Given the description of an element on the screen output the (x, y) to click on. 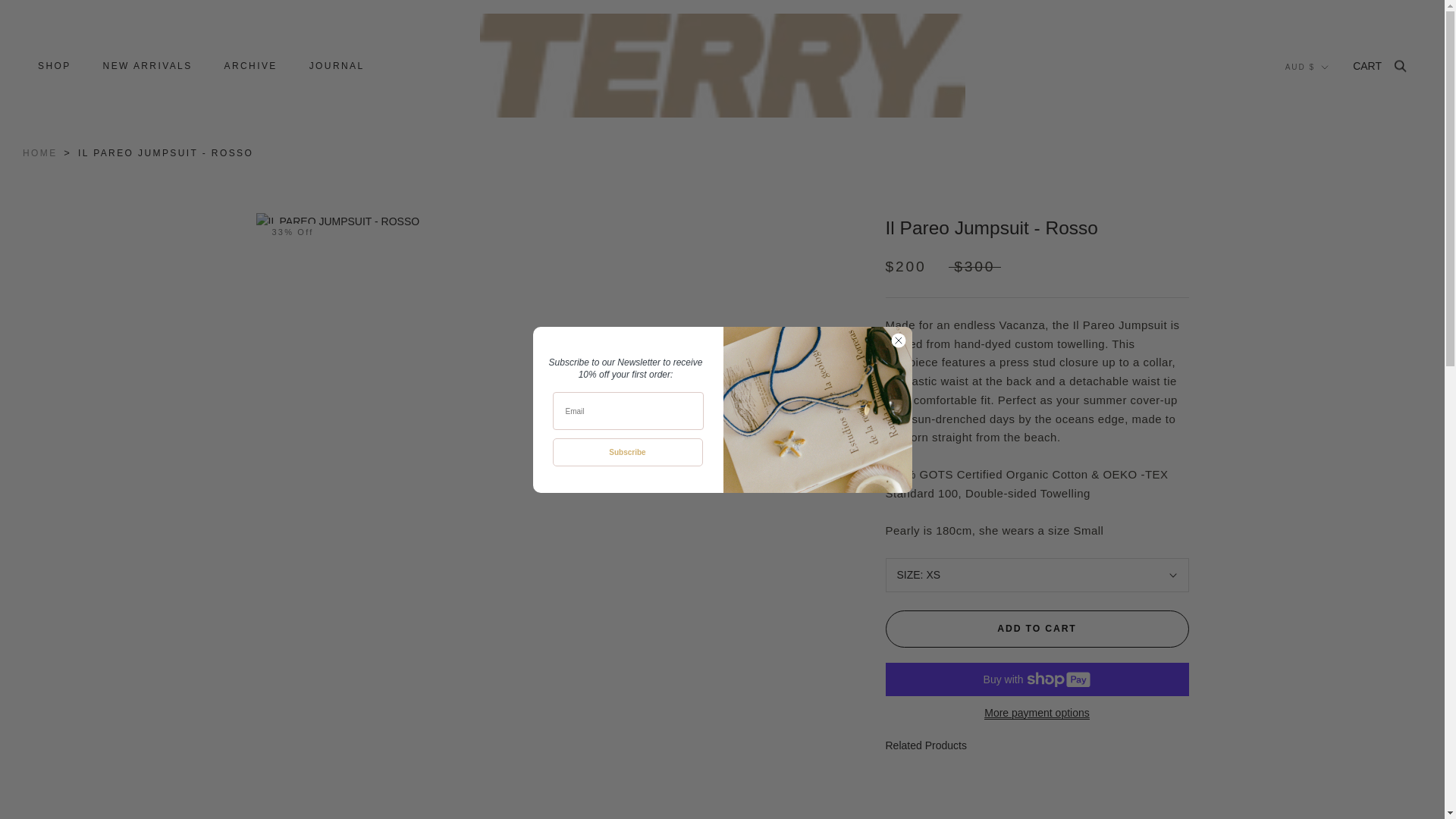
SHOP (54, 65)
Home (40, 153)
